Given the description of an element on the screen output the (x, y) to click on. 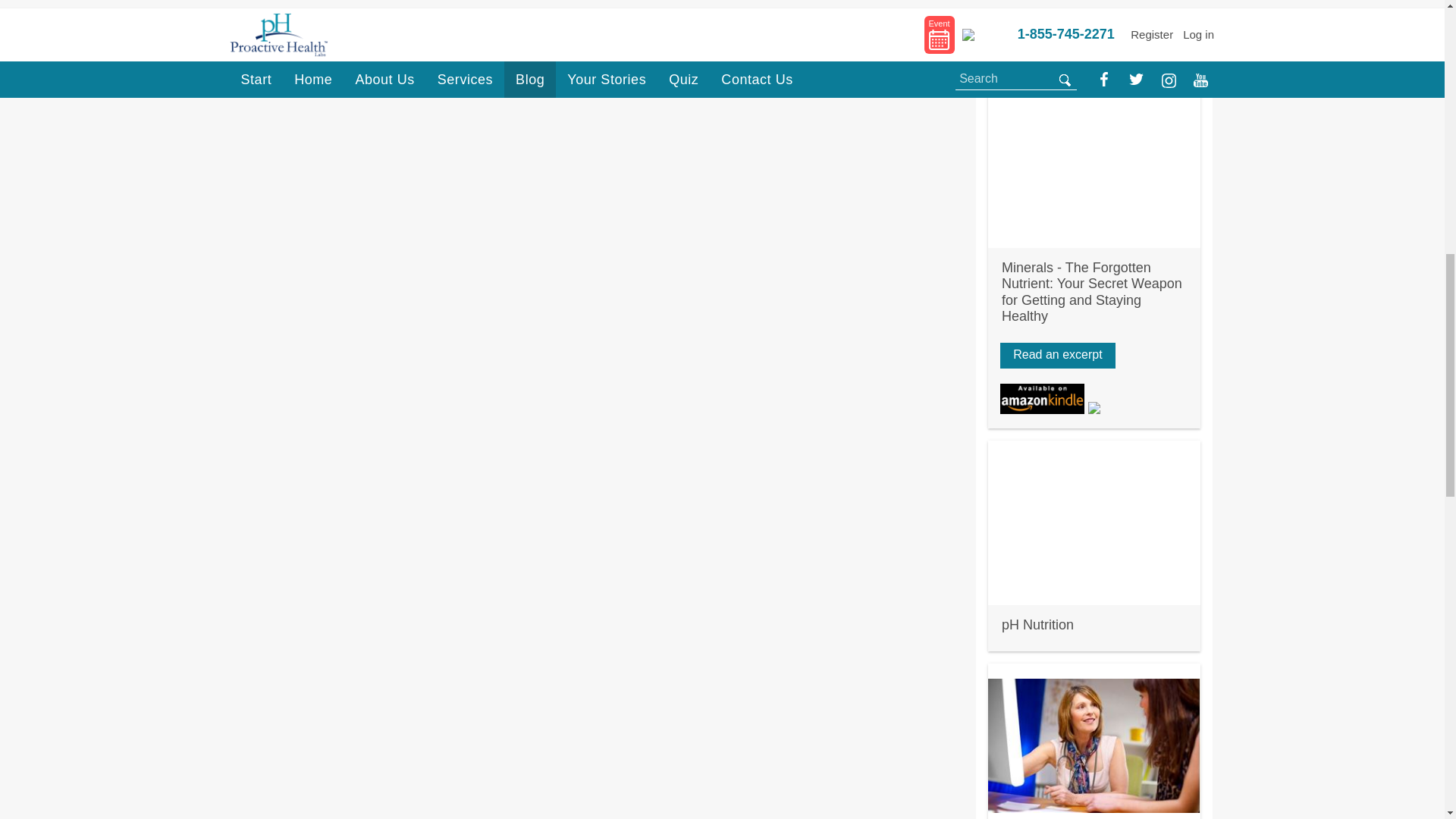
Picture of pH Health Assessment (1093, 741)
Picture of Vitamin Therapy (1093, 12)
Picture of pH Nutrition (1093, 522)
